Given the description of an element on the screen output the (x, y) to click on. 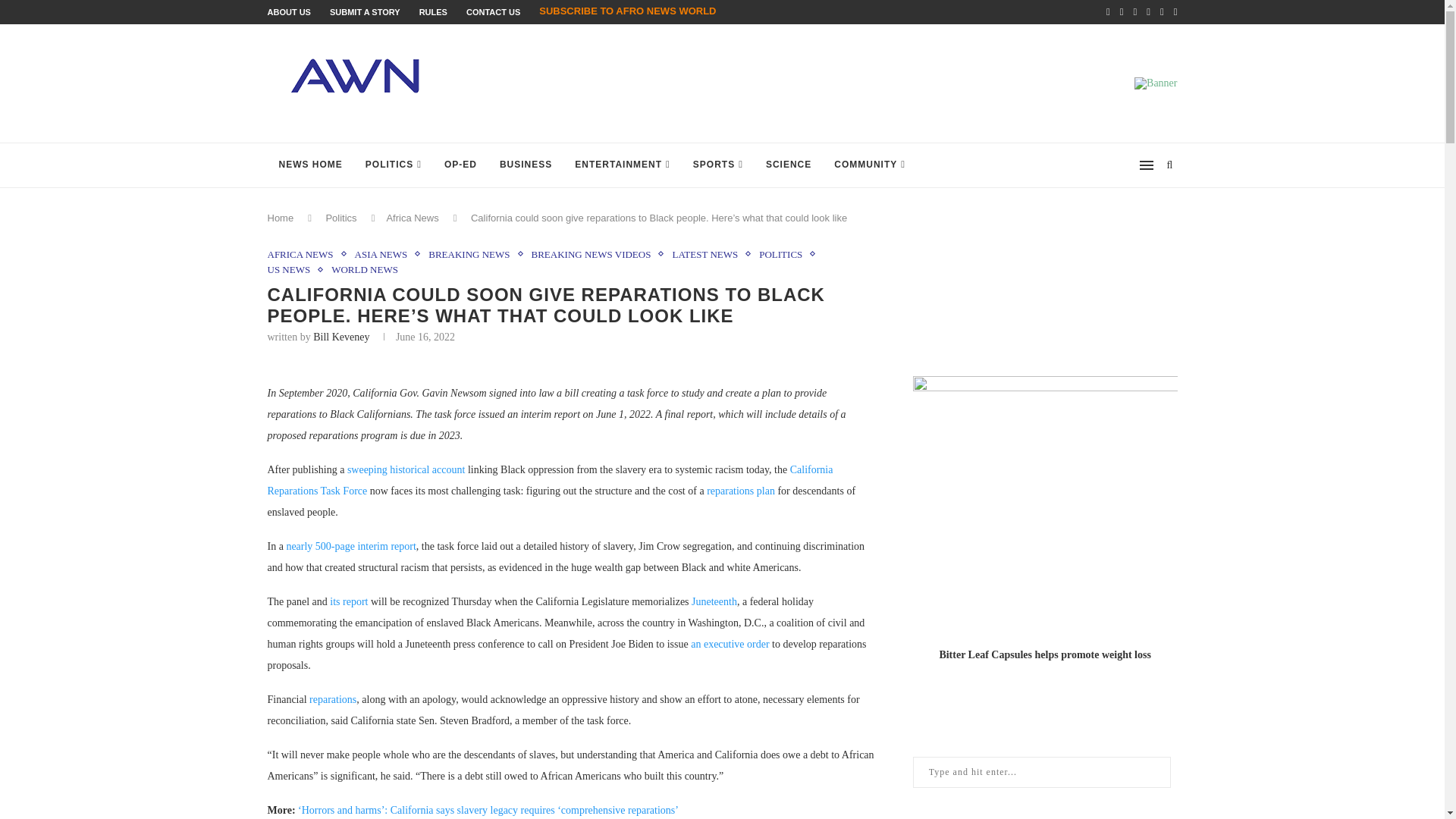
SUBMIT A STORY (365, 11)
CONTACT US (492, 11)
ABOUT US (288, 11)
RULES (432, 11)
